Given the description of an element on the screen output the (x, y) to click on. 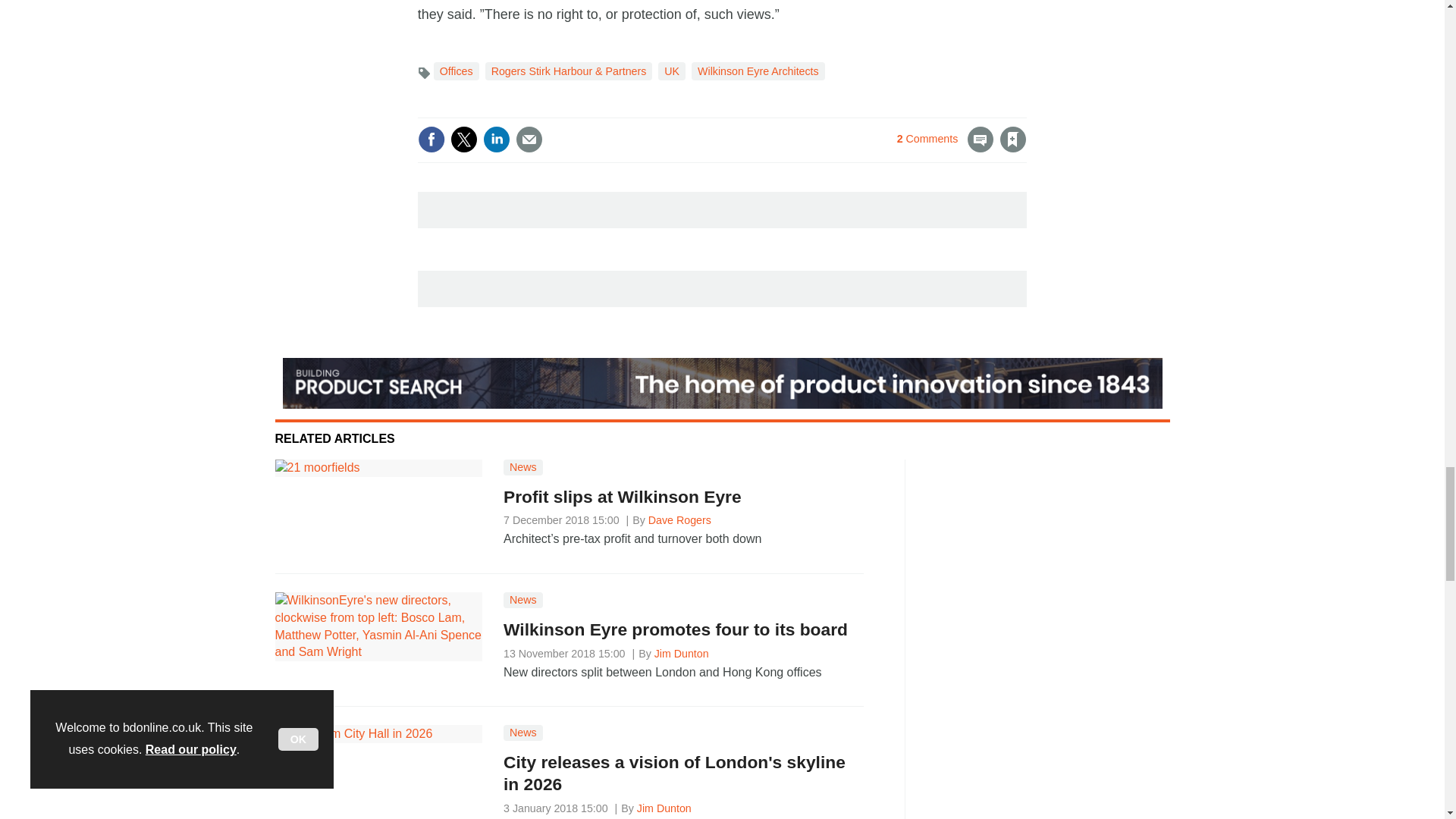
Share this on Facebook (431, 139)
2 Comments (945, 148)
Share this on Twitter (463, 139)
Email this article (529, 139)
Share this on Linked in (497, 139)
